Given the description of an element on the screen output the (x, y) to click on. 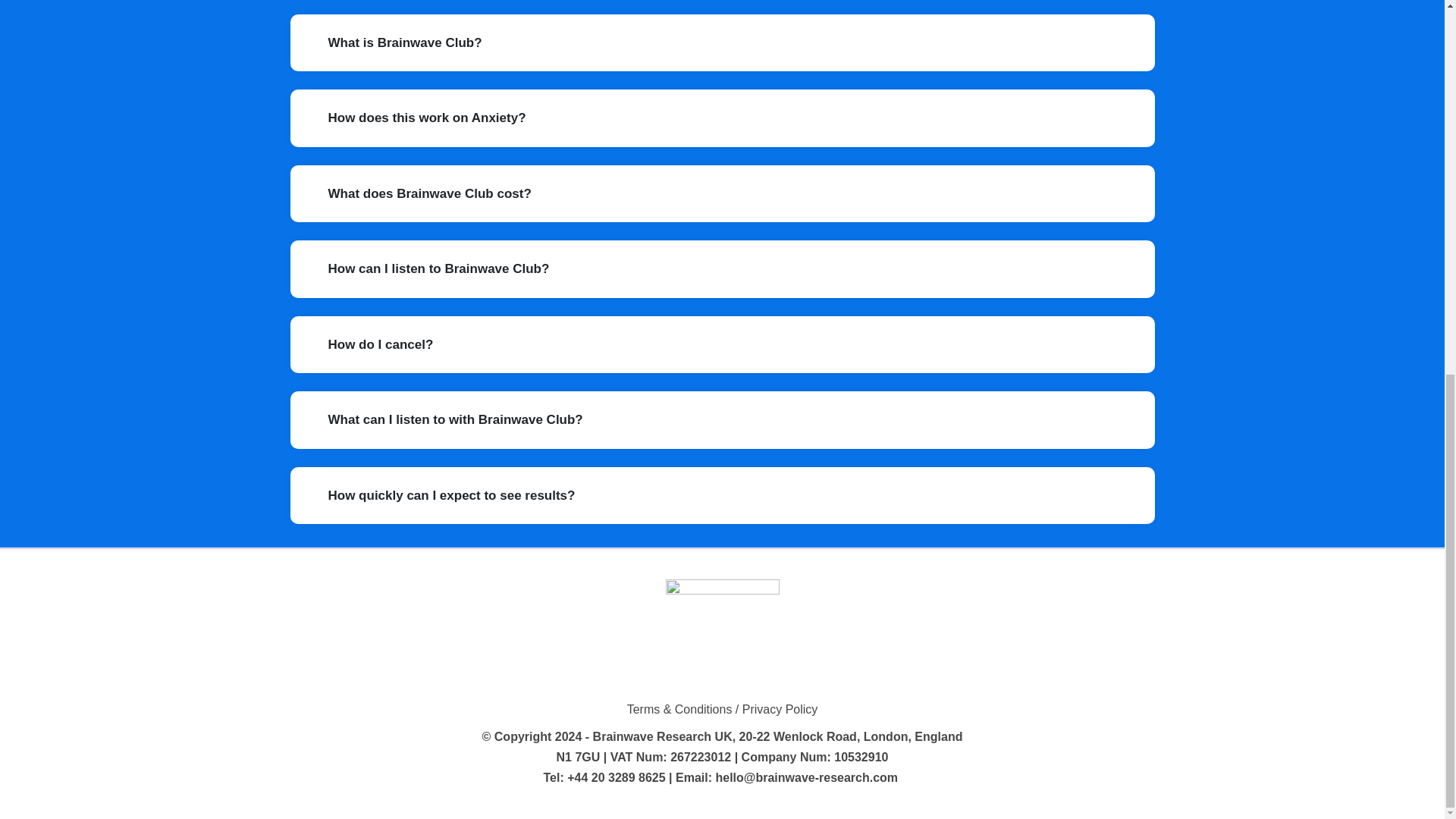
Privacy Policy (780, 708)
logo-1 (721, 635)
